Given the description of an element on the screen output the (x, y) to click on. 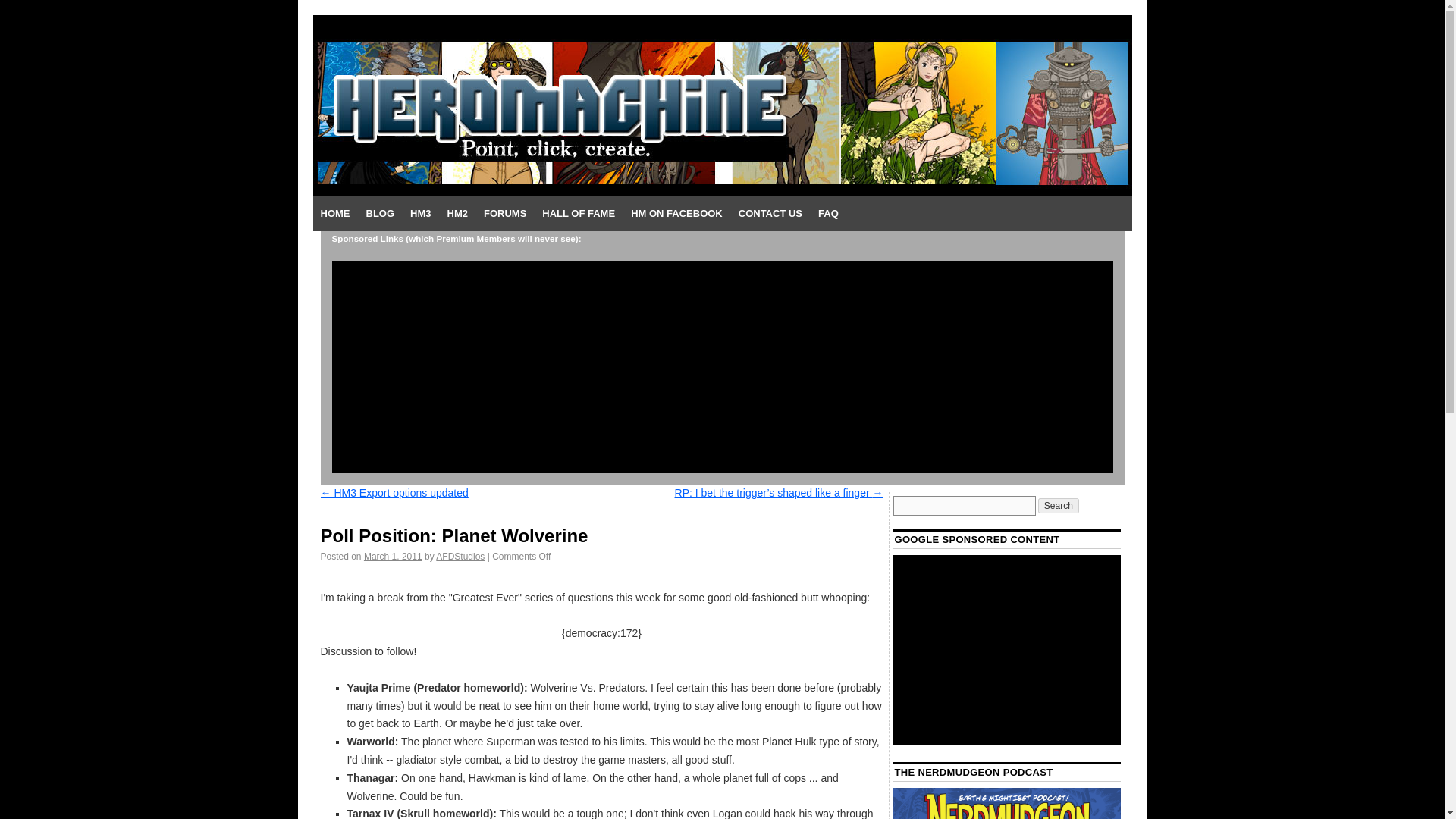
AFDStudios (459, 556)
View all posts by AFDStudios (459, 556)
HM3 (420, 213)
March 1, 2011 (393, 556)
HM ON FACEBOOK (676, 213)
Search (1058, 505)
FAQ (827, 213)
CONTACT US (769, 213)
3:53 pm (393, 556)
Advertisement (1007, 649)
HM2 (457, 213)
FORUMS (505, 213)
HOME (334, 213)
Search (1058, 505)
